Given the description of an element on the screen output the (x, y) to click on. 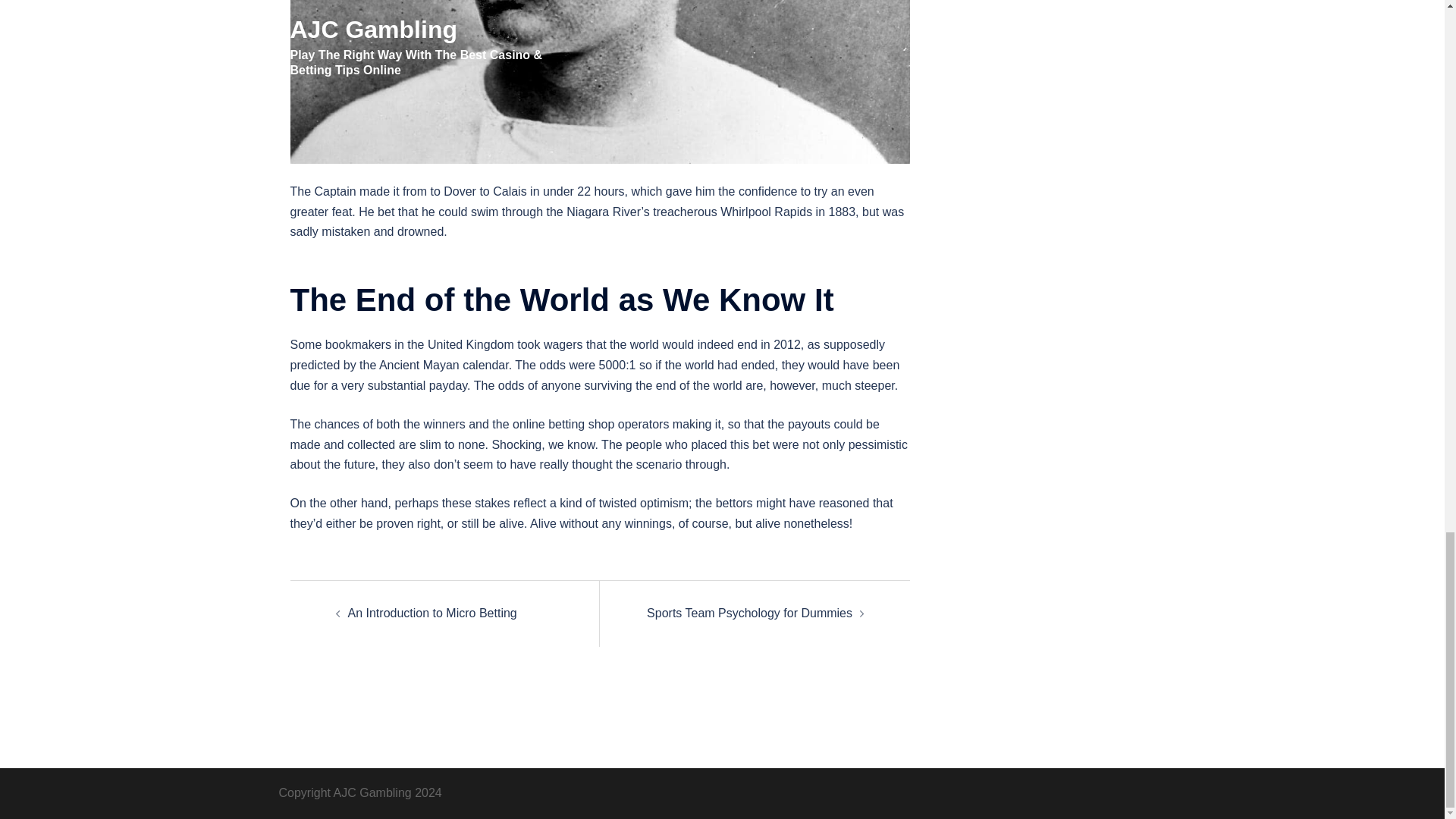
Sports Team Psychology for Dummies (748, 612)
An Introduction to Micro Betting (431, 612)
online betting (548, 423)
